Given the description of an element on the screen output the (x, y) to click on. 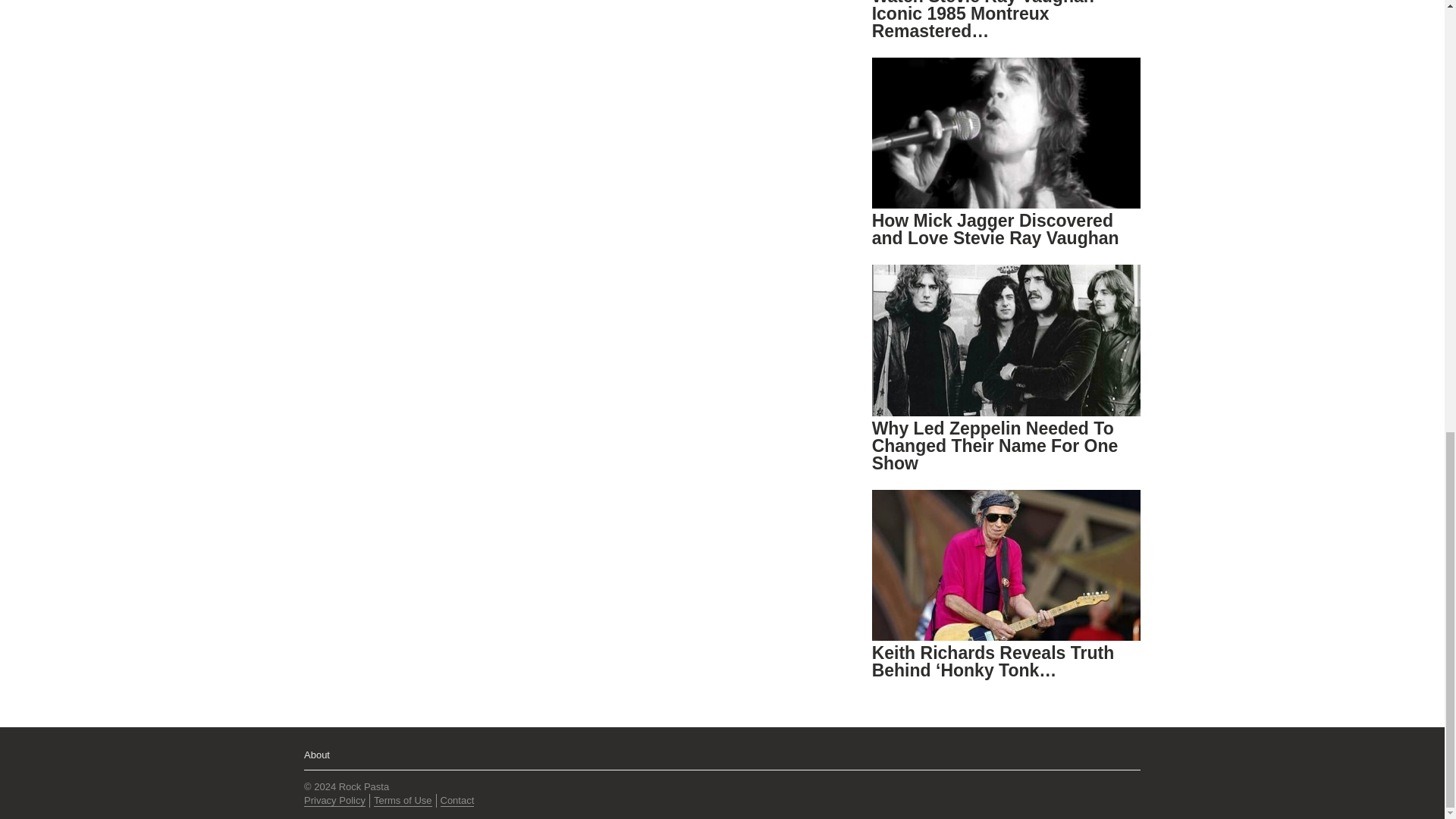
How Mick Jagger Discovered and Love Stevie Ray Vaughan (995, 229)
Why Led Zeppelin Needed To Changed Their Name For One Show (995, 445)
Eric Clapton with Ed Sheeran - I Will Be There (493, 15)
